Given the description of an element on the screen output the (x, y) to click on. 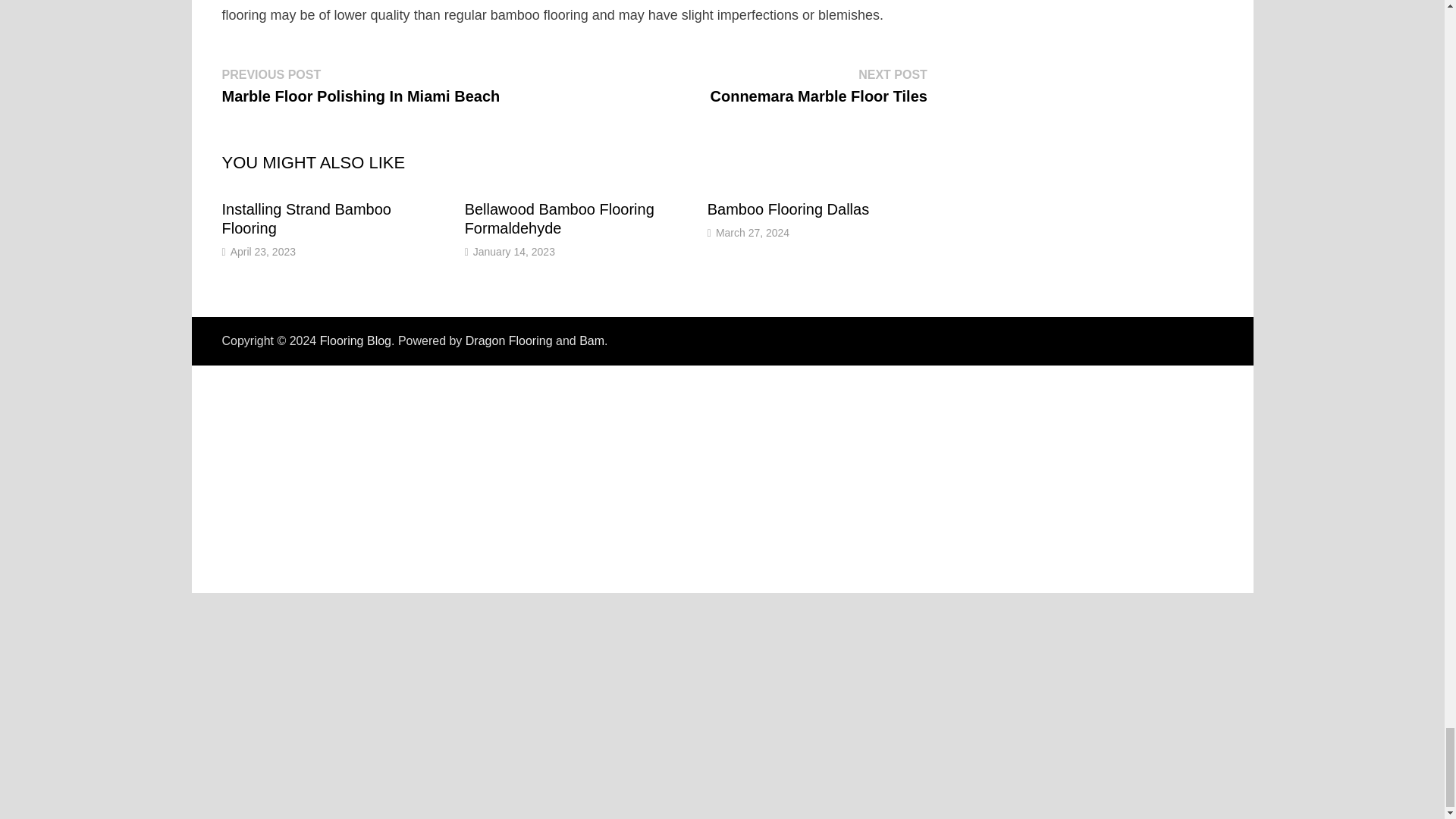
Bellawood Bamboo Flooring Formaldehyde (558, 218)
Bamboo Flooring Dallas (788, 208)
January 14, 2023 (513, 251)
March 27, 2024 (752, 232)
Bamboo Flooring Dallas (788, 208)
Flooring Blog (355, 340)
April 23, 2023 (262, 251)
Installing Strand Bamboo Flooring (305, 218)
Installing Strand Bamboo Flooring (818, 85)
Bellawood Bamboo Flooring Formaldehyde (305, 218)
